Given the description of an element on the screen output the (x, y) to click on. 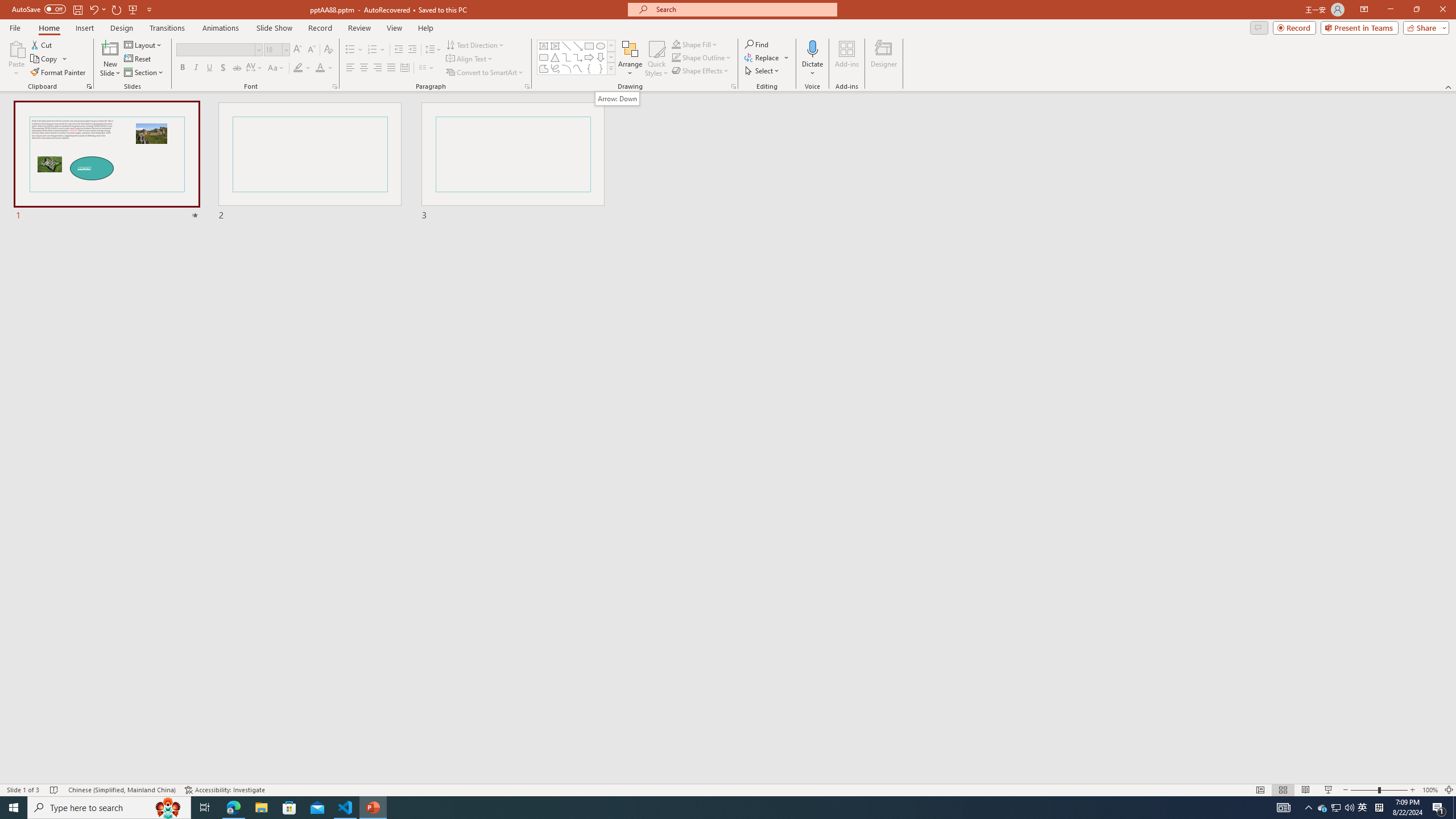
Layout (143, 44)
Connector: Elbow (566, 57)
Change Case (276, 67)
Text Direction (476, 44)
Format Object... (733, 85)
Decrease Indent (398, 49)
Isosceles Triangle (554, 57)
